Given the description of an element on the screen output the (x, y) to click on. 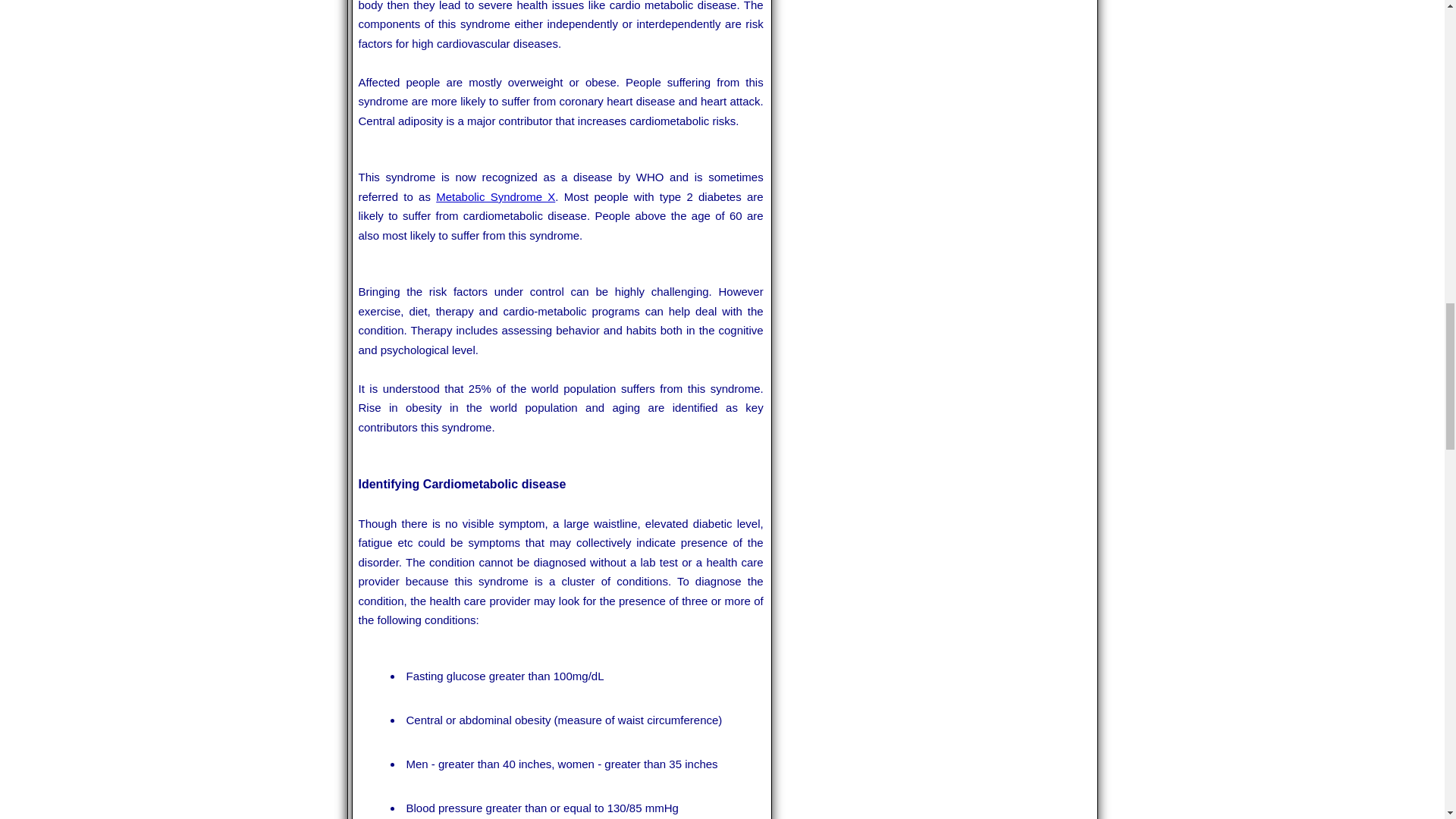
Metabolic Syndrome X (494, 196)
